Given the description of an element on the screen output the (x, y) to click on. 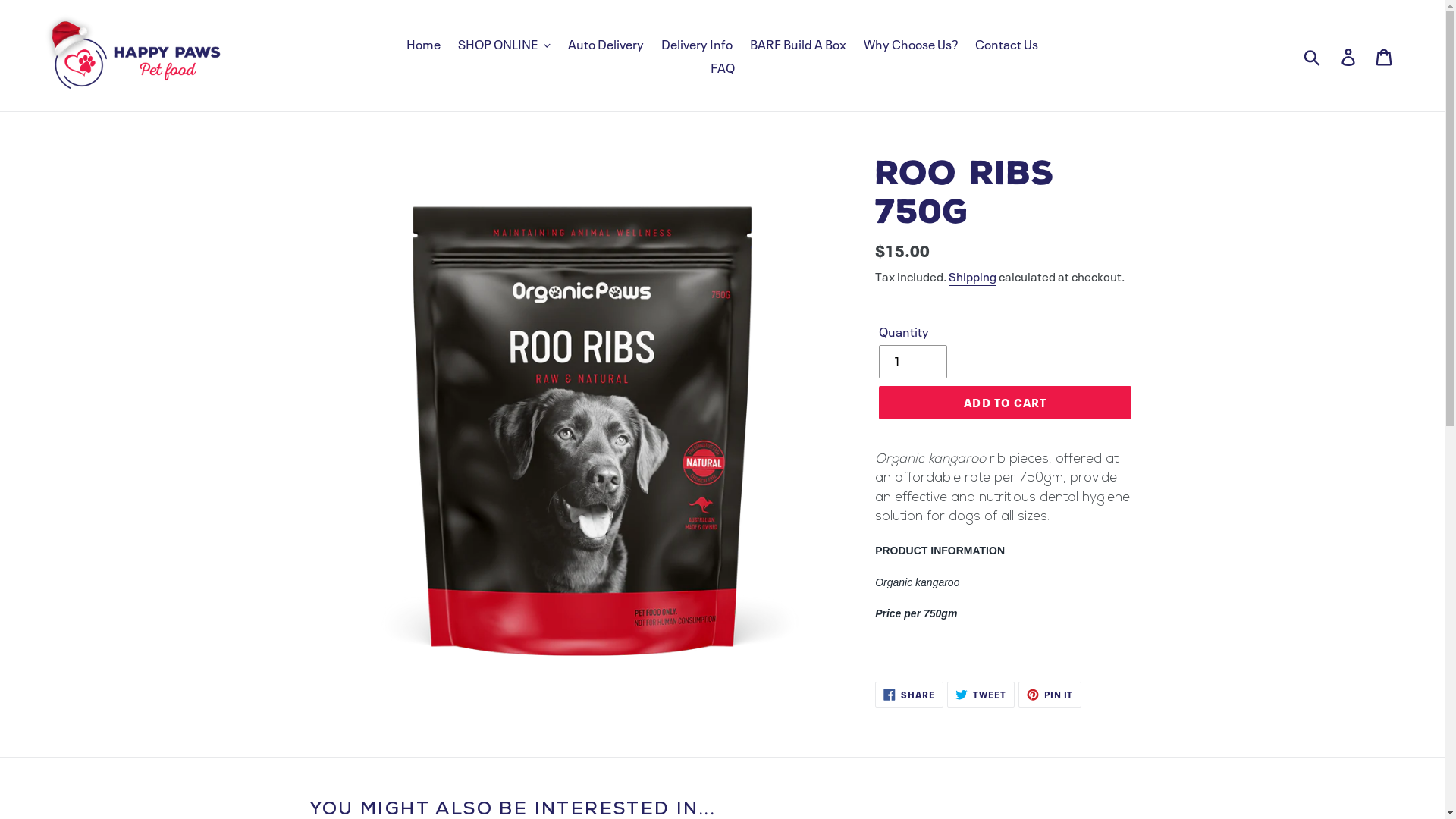
FAQ Element type: text (721, 67)
Submit Element type: text (1312, 55)
SHARE
SHARE ON FACEBOOK Element type: text (909, 694)
Log in Element type: text (1349, 55)
Cart Element type: text (1384, 55)
TWEET
TWEET ON TWITTER Element type: text (980, 694)
Home Element type: text (423, 43)
ADD TO CART Element type: text (1004, 402)
Delivery Info Element type: text (696, 43)
Why Choose Us? Element type: text (910, 43)
BARF Build A Box Element type: text (797, 43)
Auto Delivery Element type: text (605, 43)
Shipping Element type: text (972, 276)
PIN IT
PIN ON PINTEREST Element type: text (1050, 694)
Contact Us Element type: text (1006, 43)
